Given the description of an element on the screen output the (x, y) to click on. 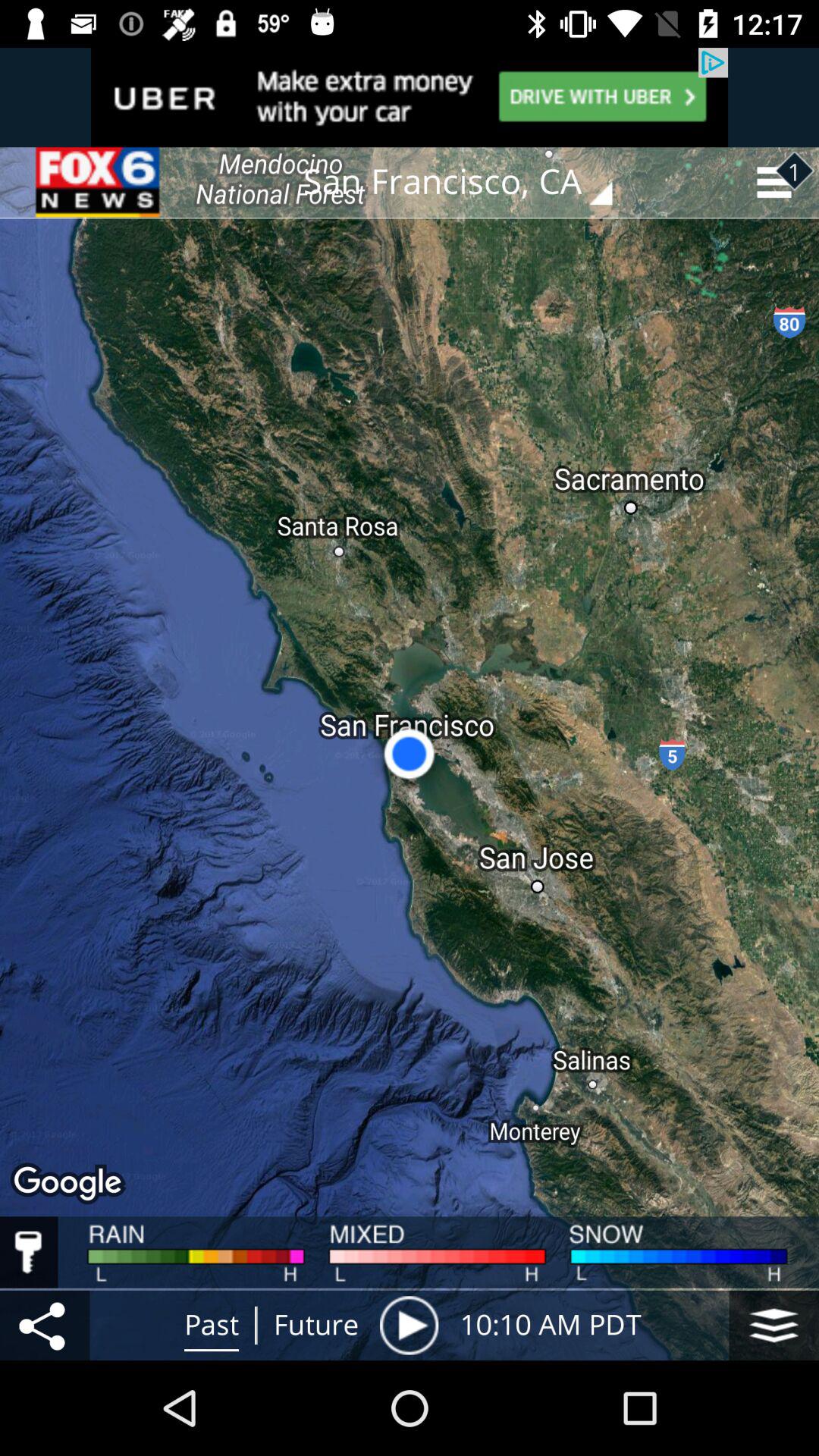
turn on icon to the left of past (44, 1325)
